Given the description of an element on the screen output the (x, y) to click on. 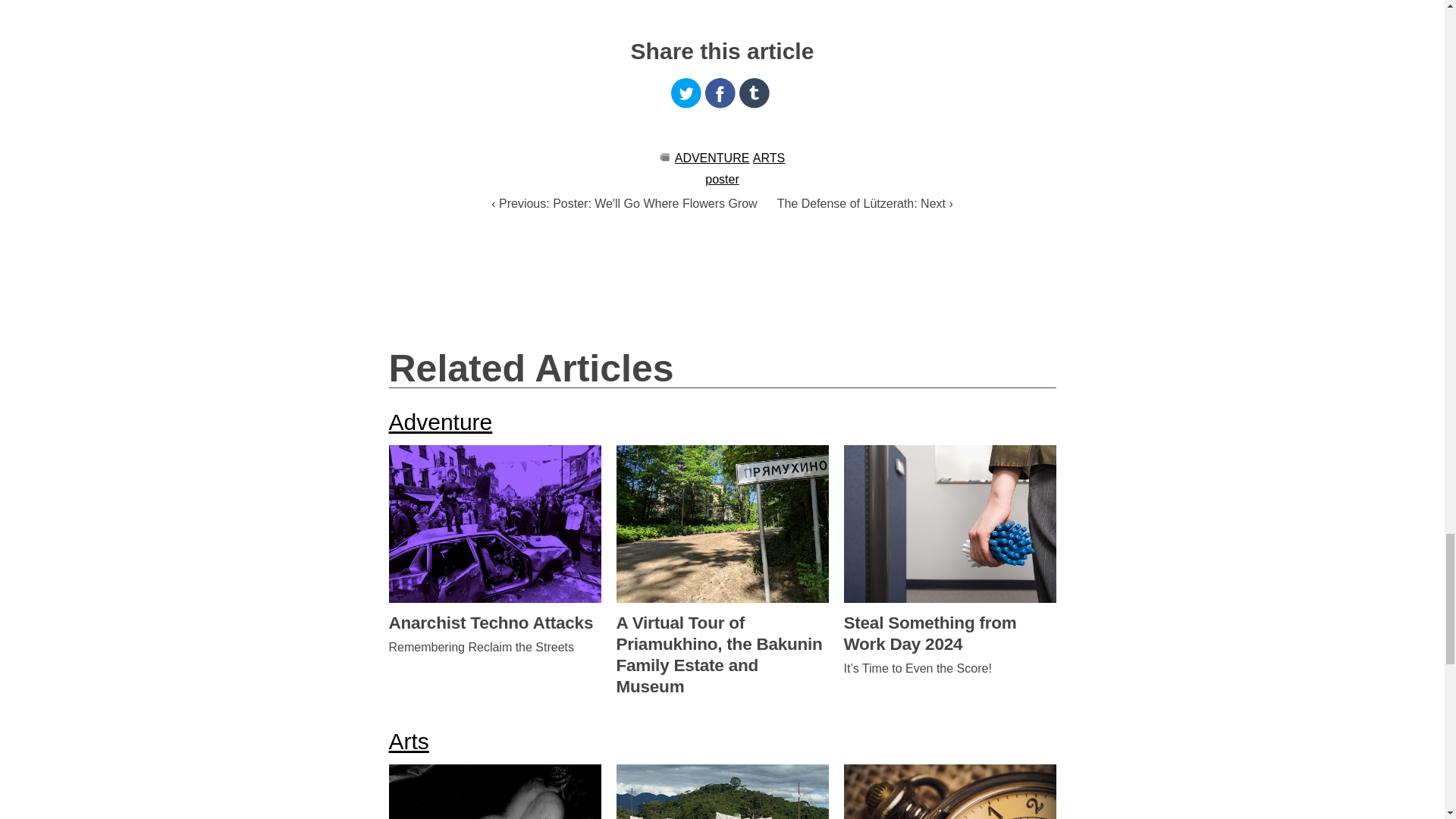
Adventure (440, 421)
Arts (408, 740)
poster (721, 178)
Share on Tumblr (754, 92)
Remembering Reclaim the Streets (493, 647)
ARTS (768, 157)
Share on Facebook (719, 92)
Steal Something from Work Day 2024 (949, 633)
ADVENTURE (712, 157)
Anarchist Techno Attacks (493, 622)
Share on Twitter (686, 92)
